Given the description of an element on the screen output the (x, y) to click on. 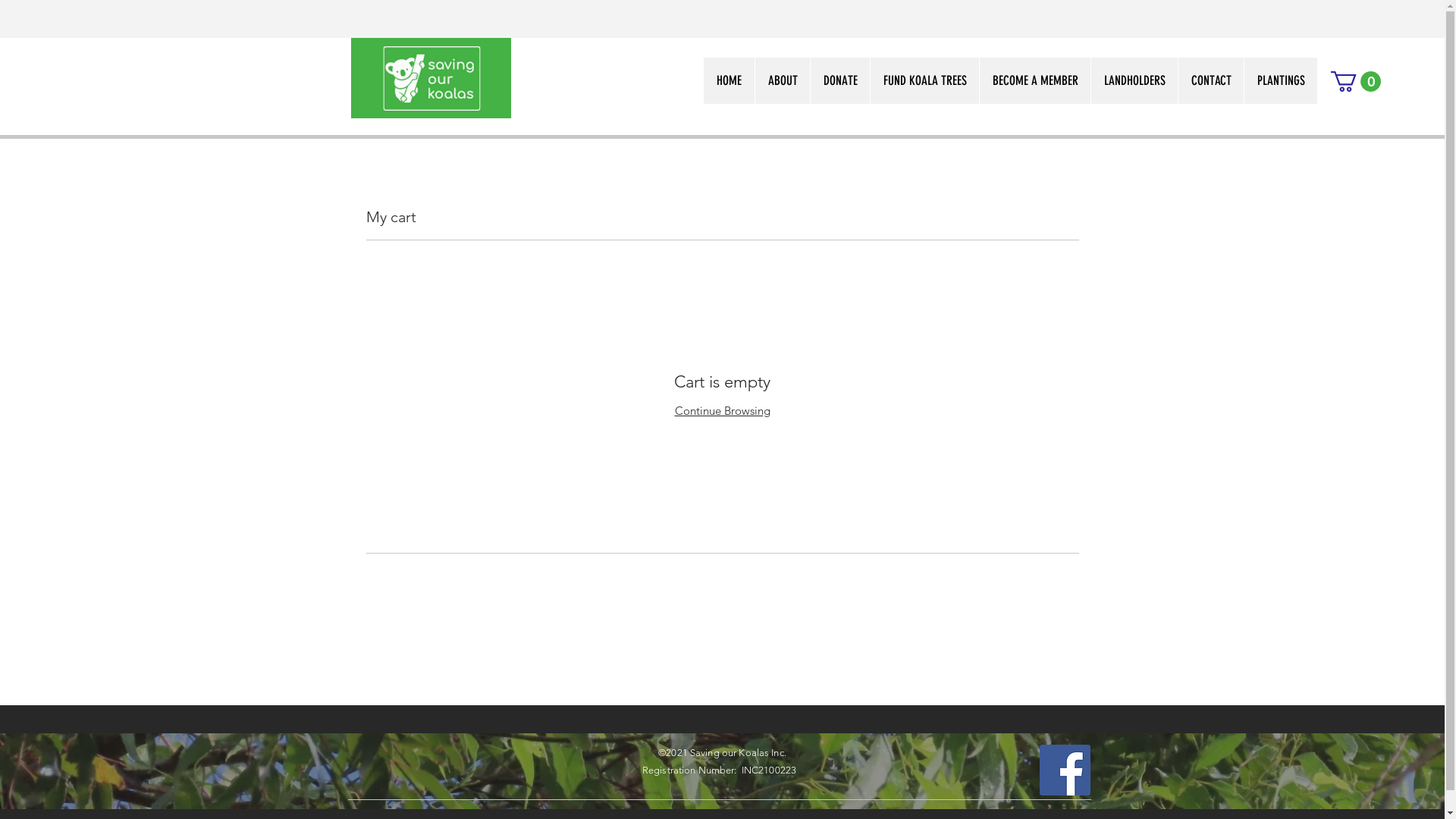
DONATE Element type: text (839, 80)
FUND KOALA TREES Element type: text (924, 80)
ABOUT Element type: text (781, 80)
CONTACT Element type: text (1210, 80)
LANDHOLDERS Element type: text (1133, 80)
PLANTINGS Element type: text (1280, 80)
Continue Browsing Element type: text (722, 410)
0 Element type: text (1355, 81)
HOME Element type: text (728, 80)
BECOME A MEMBER Element type: text (1034, 80)
